Given the description of an element on the screen output the (x, y) to click on. 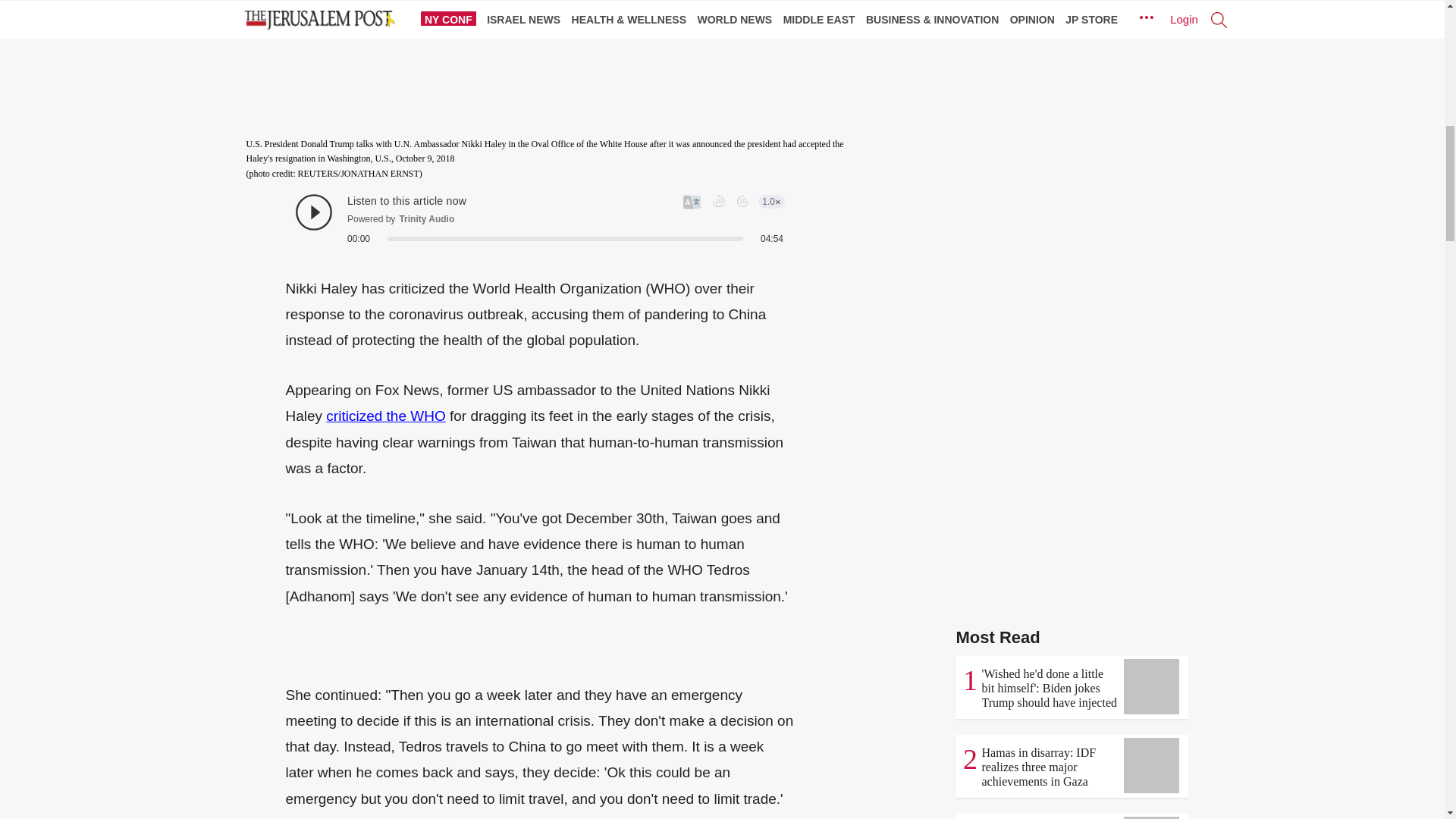
criticized the WHO (385, 415)
Trinity Audio Player (539, 219)
